Given the description of an element on the screen output the (x, y) to click on. 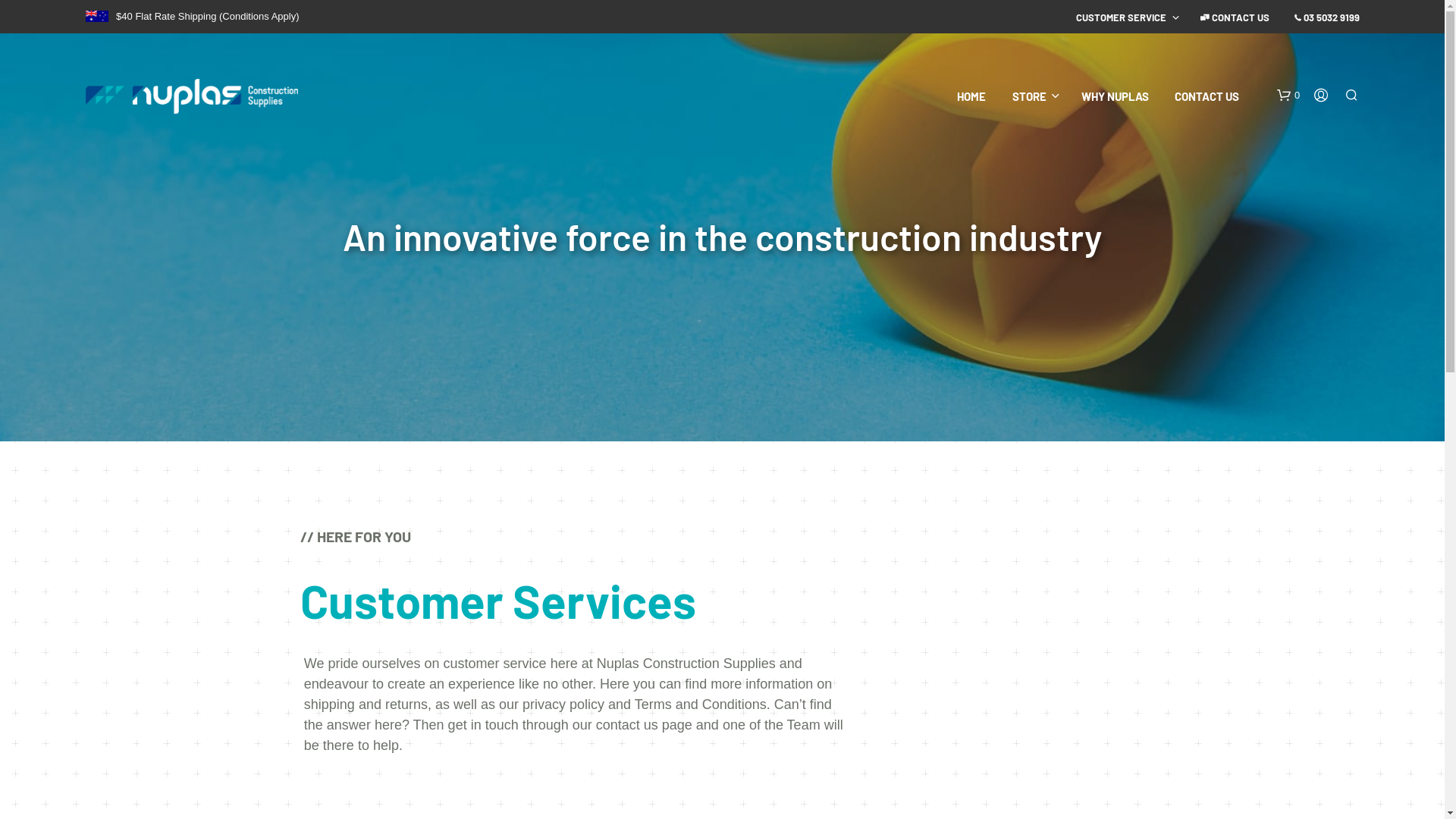
STORE Element type: text (1029, 96)
CONTACT US Element type: text (1206, 96)
0 Element type: text (1288, 95)
CUSTOMER SERVICE Element type: text (1120, 17)
HOME Element type: text (971, 96)
 CONTACT US Element type: text (1234, 17)
WHY NUPLAS Element type: text (1115, 96)
 03 5032 9199 Element type: text (1327, 17)
